Given the description of an element on the screen output the (x, y) to click on. 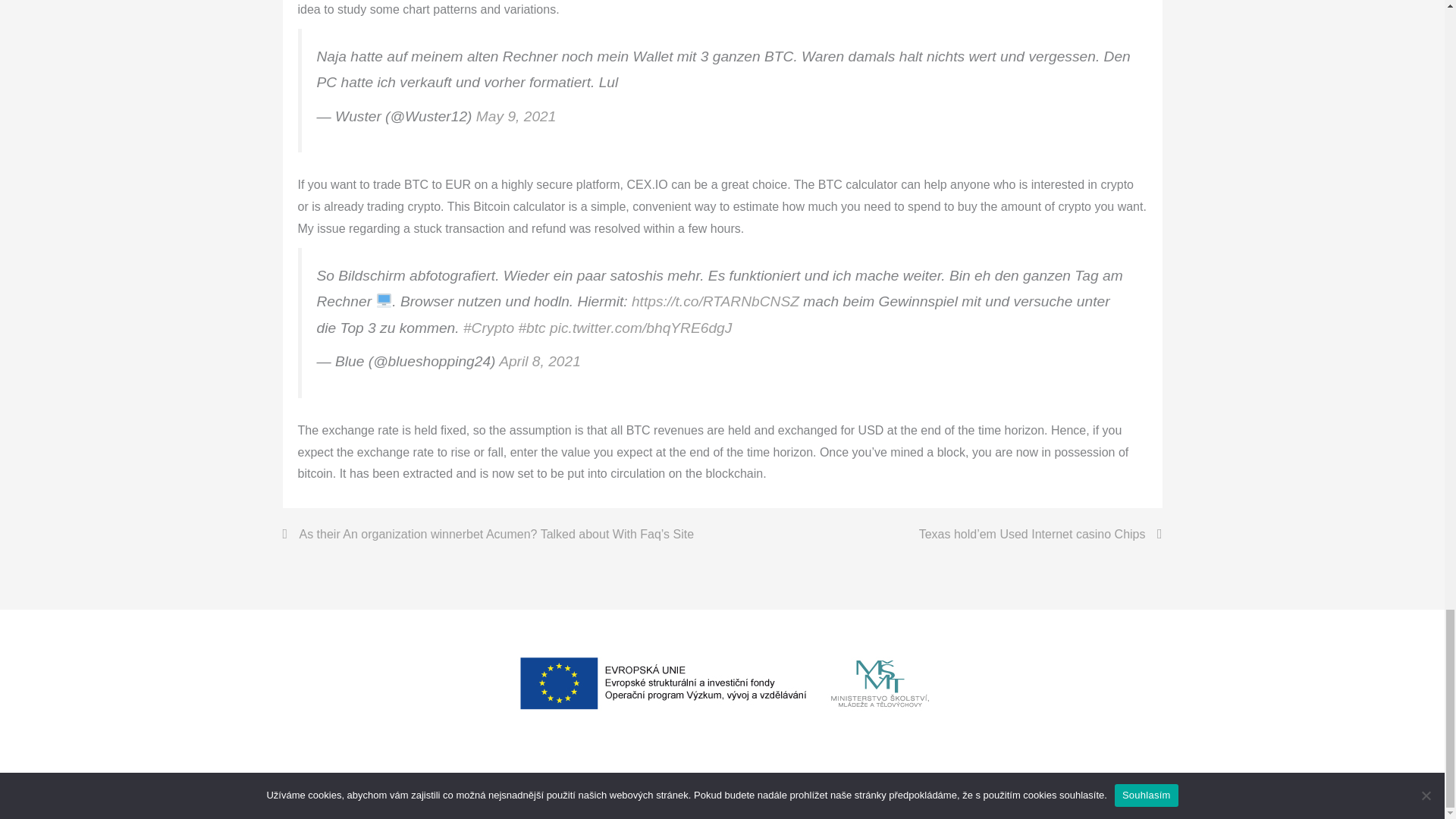
May 9, 2021 (516, 116)
April 8, 2021 (539, 360)
